Given the description of an element on the screen output the (x, y) to click on. 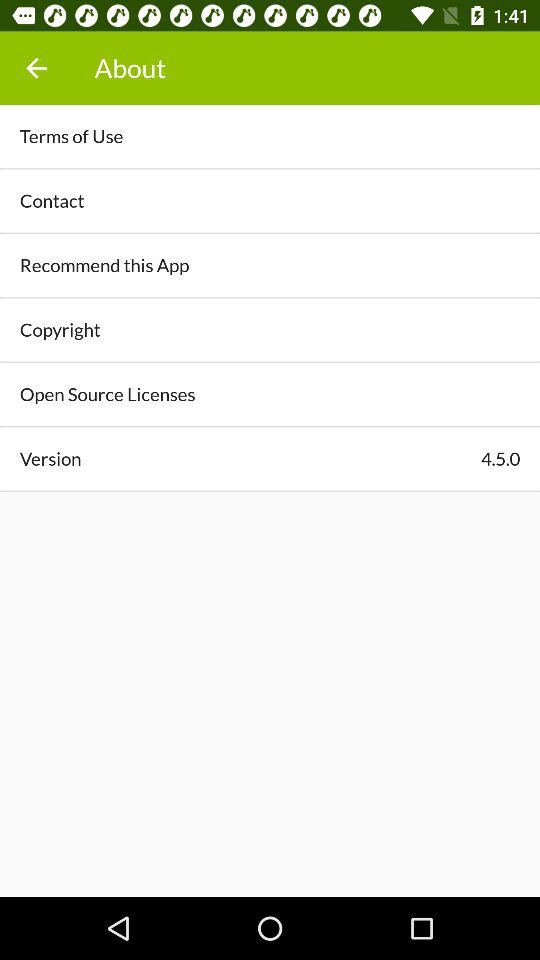
tap the icon to the left of the about (36, 68)
